Given the description of an element on the screen output the (x, y) to click on. 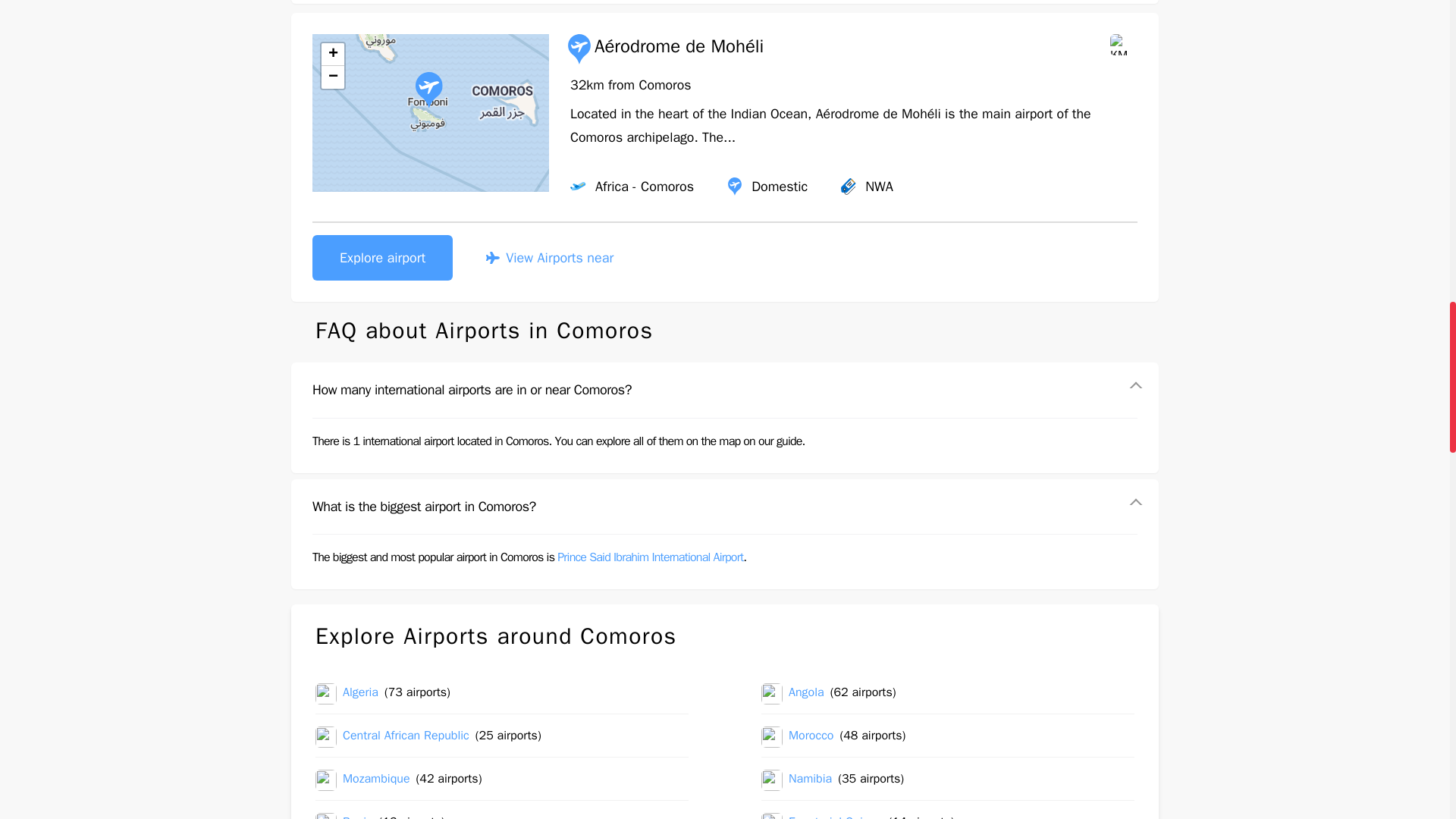
Zoom in (332, 54)
Zoom out (332, 77)
